Given the description of an element on the screen output the (x, y) to click on. 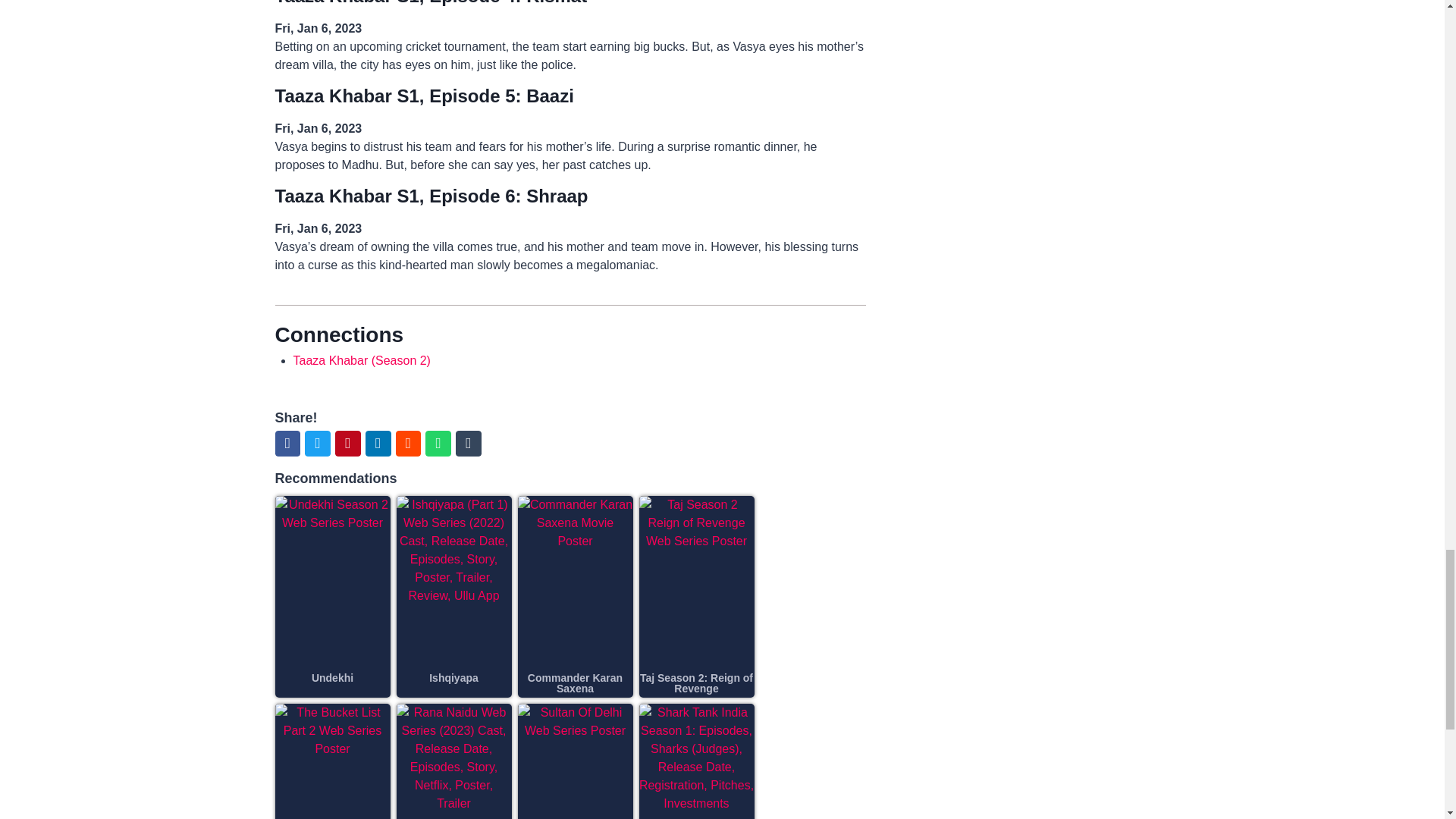
Taj Season 2: Reign of Revenge (696, 682)
Undekhi (332, 677)
Shark-Tank-India-Season-1-TV-Series-Poster (696, 761)
Commander Karan Saxena (575, 682)
Ishqiyapa (454, 677)
The-Bucket-List-2-Web-Series (332, 761)
Rana-Naidu-Web-Series-Poster (453, 761)
Sultan-Of-Delhi-Web-Series-Movie-Poster (573, 761)
